Given the description of an element on the screen output the (x, y) to click on. 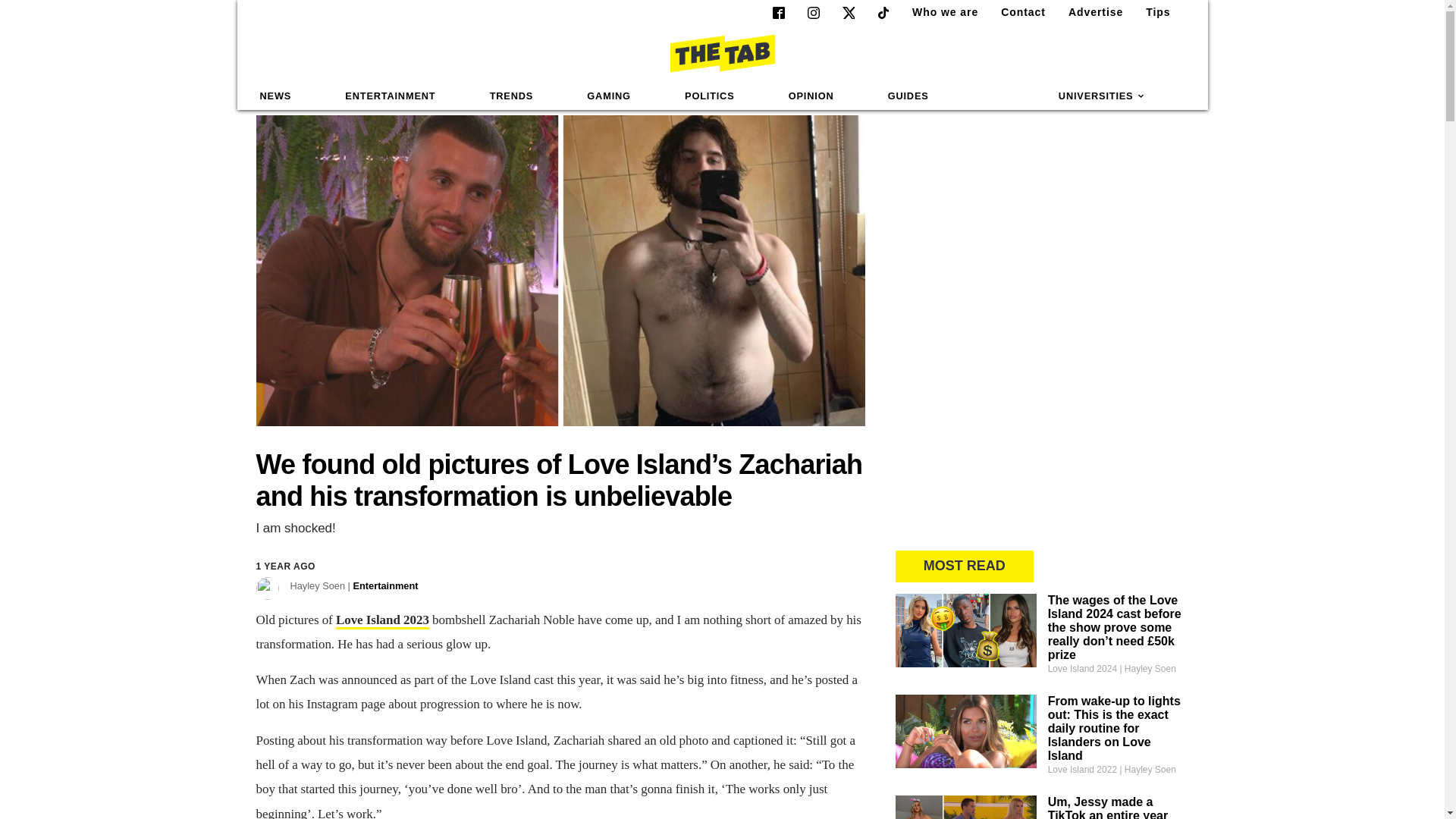
POLITICS (708, 96)
TRENDS (511, 96)
Contact (1016, 11)
GUIDES (908, 96)
Posts by Hayley Soen (353, 585)
UNIVERSITIES (1101, 96)
Who we are (938, 11)
GAMING (608, 96)
Tips (1152, 11)
ENTERTAINMENT (389, 96)
OPINION (811, 96)
NEWS (275, 96)
Advertise (1089, 11)
